Given the description of an element on the screen output the (x, y) to click on. 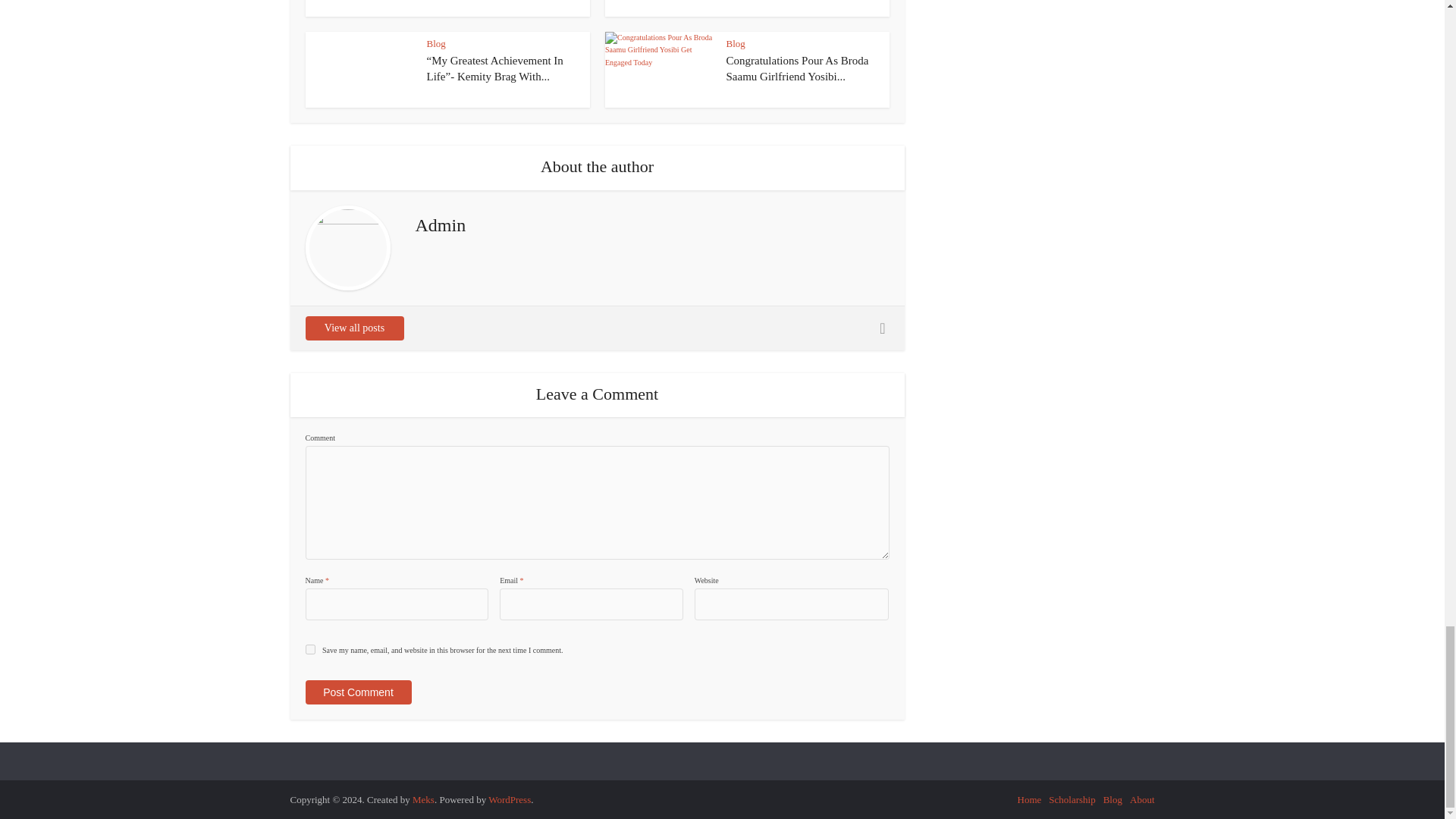
Post Comment (357, 692)
Blog (435, 43)
yes (309, 649)
